Given the description of an element on the screen output the (x, y) to click on. 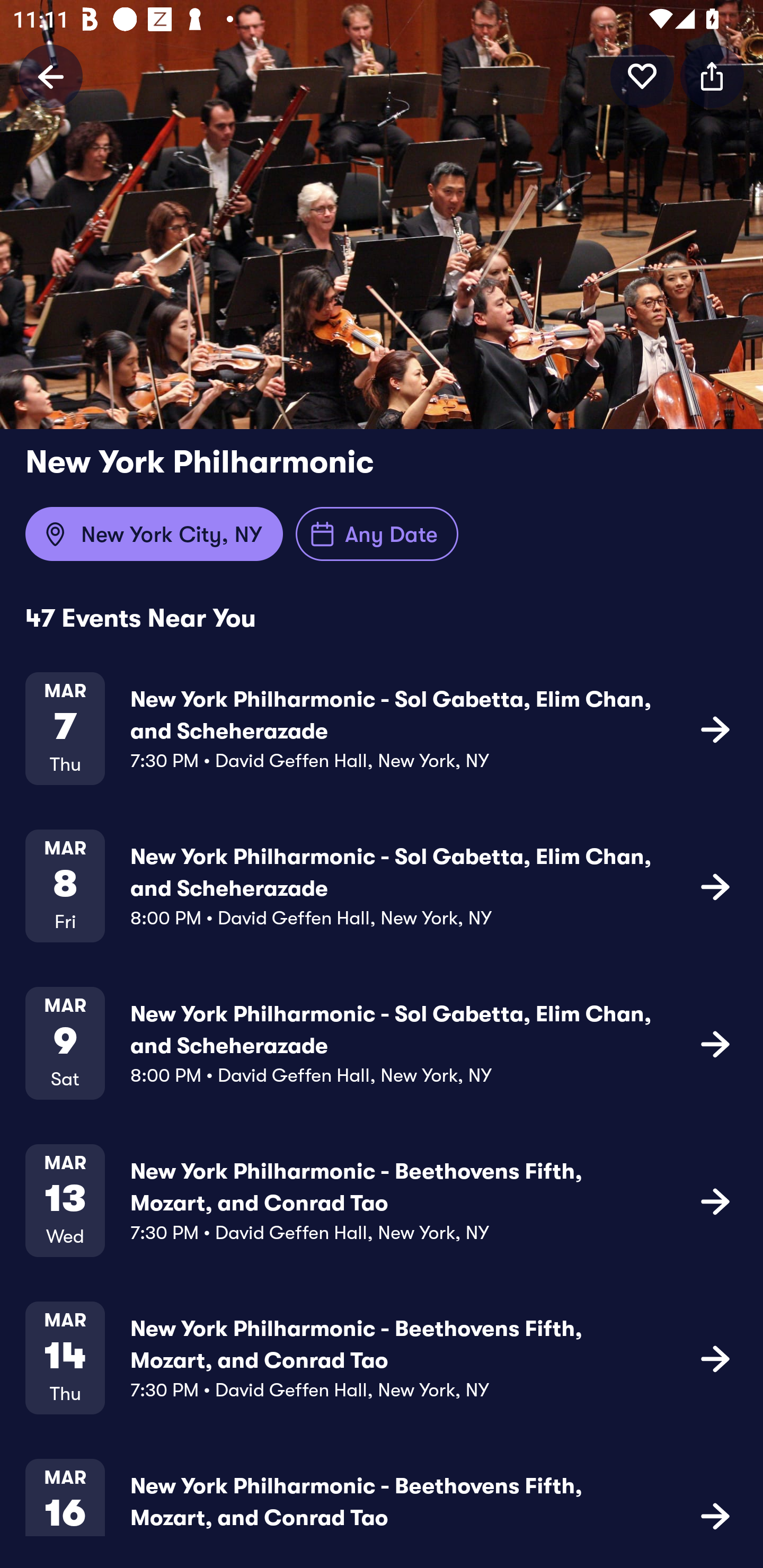
Back (50, 75)
icon button (641, 75)
icon button (711, 75)
New York City, NY (153, 533)
Any Date (377, 533)
icon button (714, 729)
icon button (714, 885)
icon button (714, 1043)
icon button (714, 1201)
icon button (714, 1357)
icon button (714, 1514)
